Given the description of an element on the screen output the (x, y) to click on. 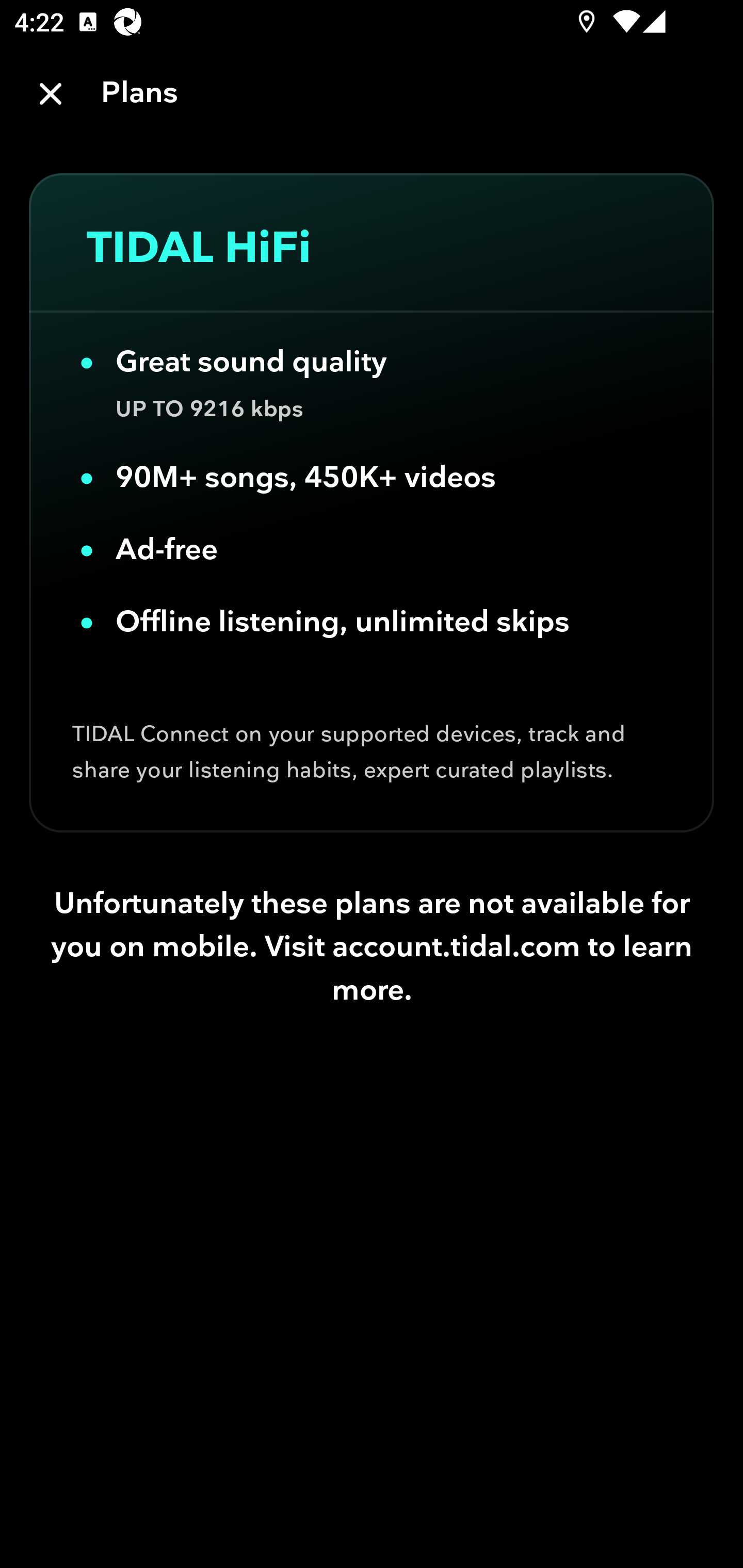
Close (50, 93)
